Given the description of an element on the screen output the (x, y) to click on. 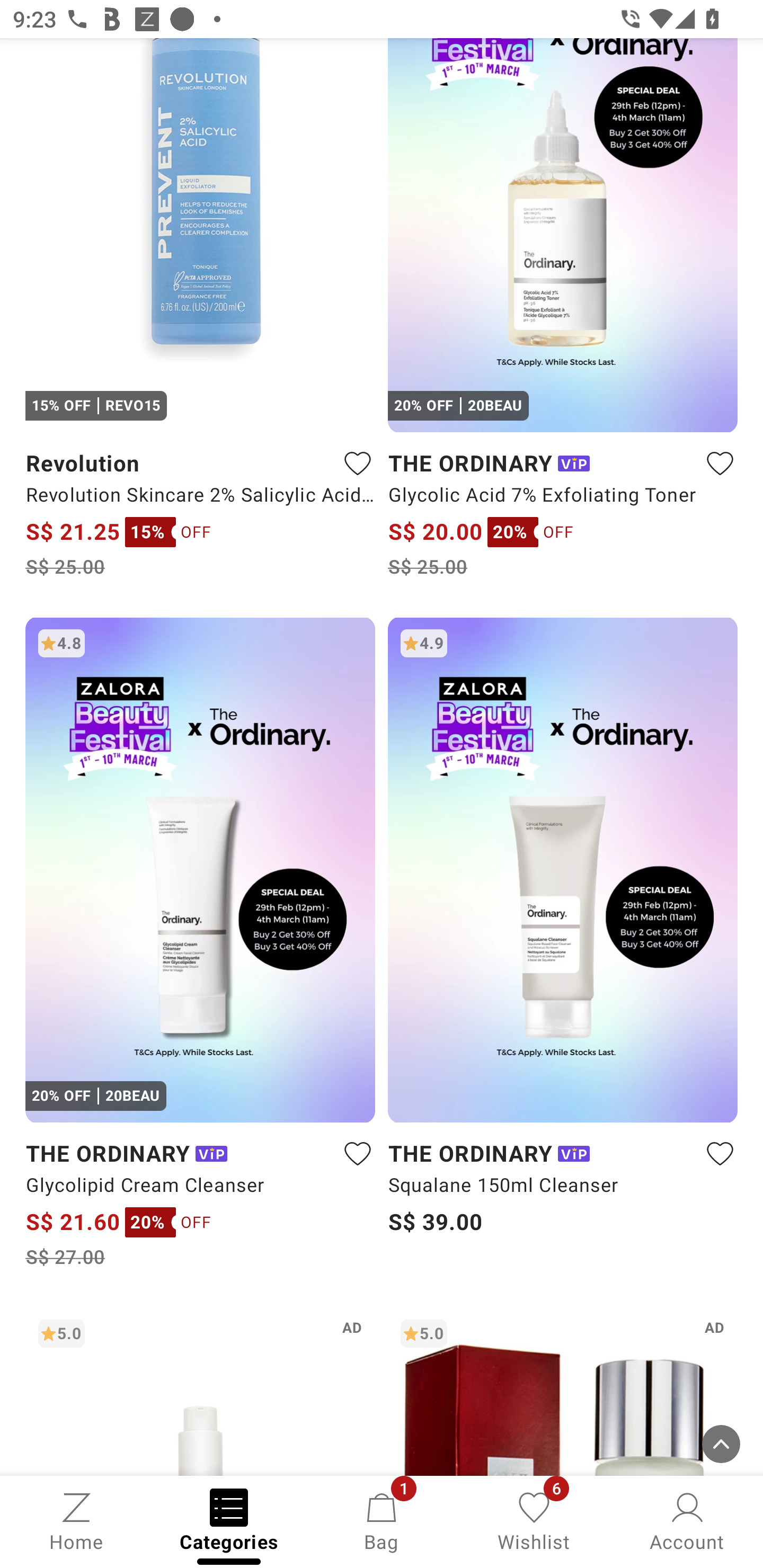
Home (76, 1519)
Bag, 1 new notification Bag (381, 1519)
Wishlist, 6 new notifications Wishlist (533, 1519)
Account (686, 1519)
